Given the description of an element on the screen output the (x, y) to click on. 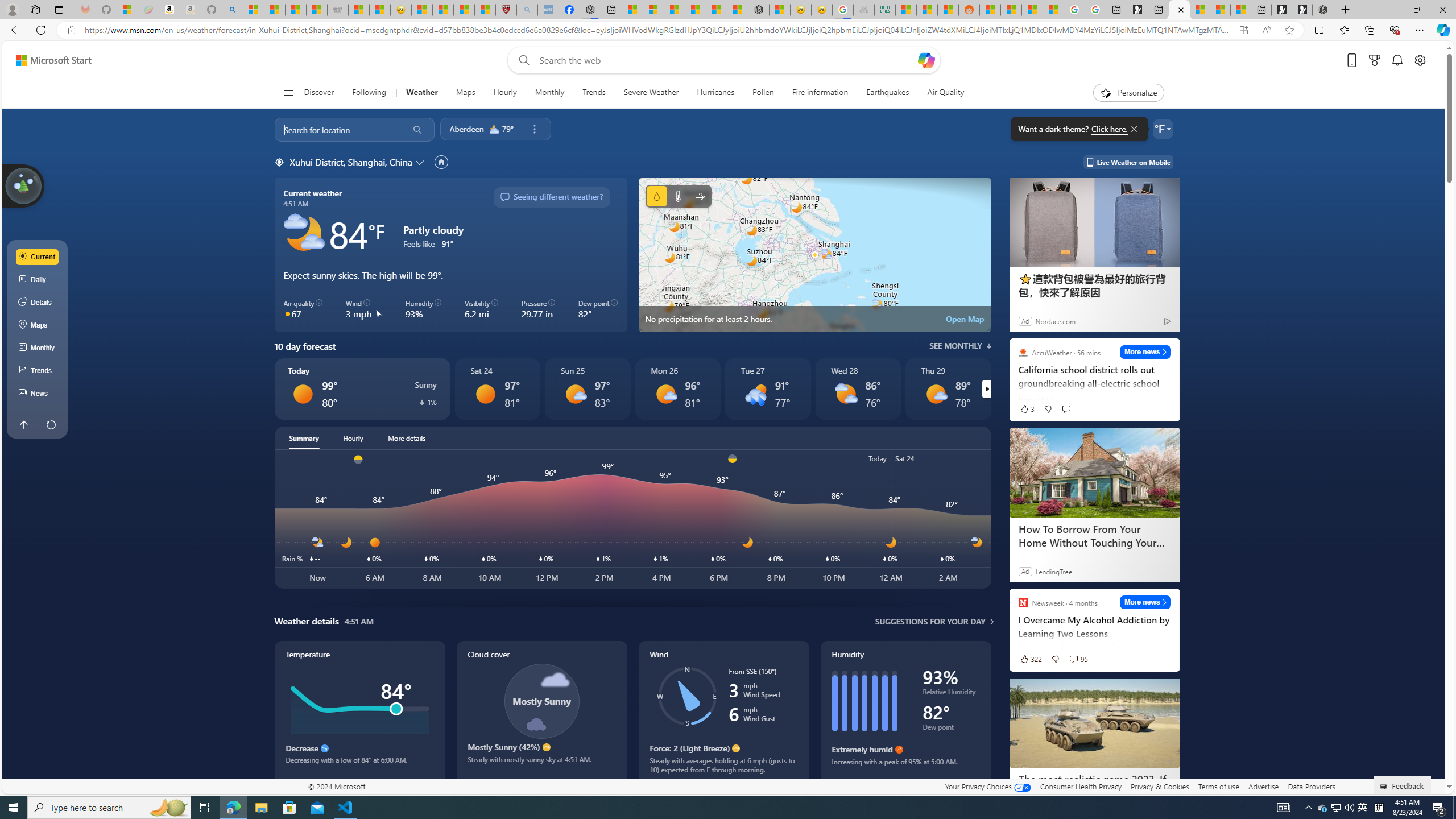
Pressure 29.77 in (538, 309)
Class: BubbleMessageCloseIcon-DS-EntryPoint1-1 (1133, 128)
Pollen (763, 92)
Ad Choice (1166, 320)
Cloud cover (541, 711)
Maps (37, 325)
Web search (520, 60)
Open settings (1420, 60)
Hurricanes (716, 92)
Earthquakes (887, 92)
Address and search bar (658, 29)
